Given the description of an element on the screen output the (x, y) to click on. 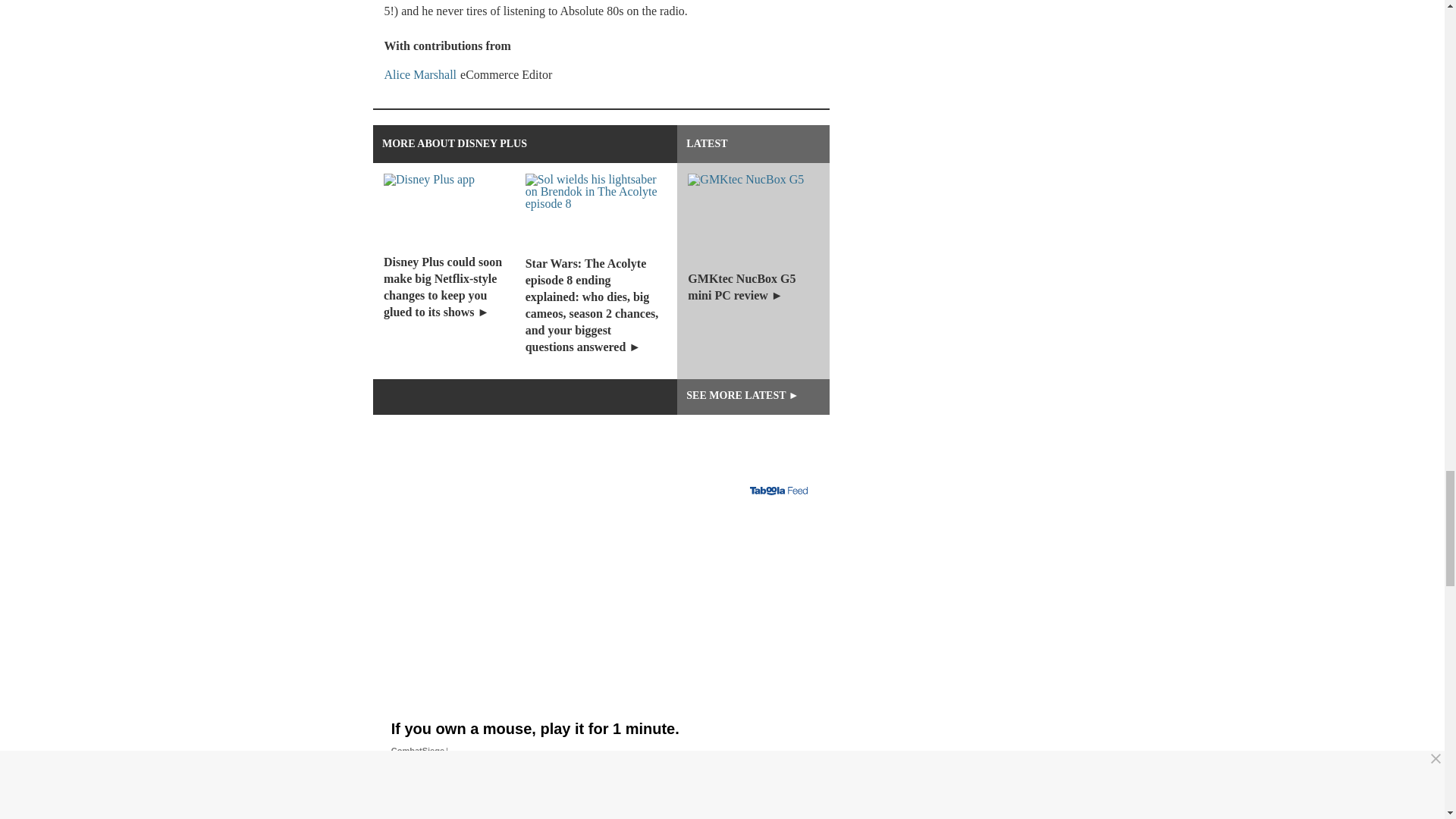
If you own a mouse, play it for 1 minute. (600, 608)
If you own a mouse, play it for 1 minute. (600, 738)
